Given the description of an element on the screen output the (x, y) to click on. 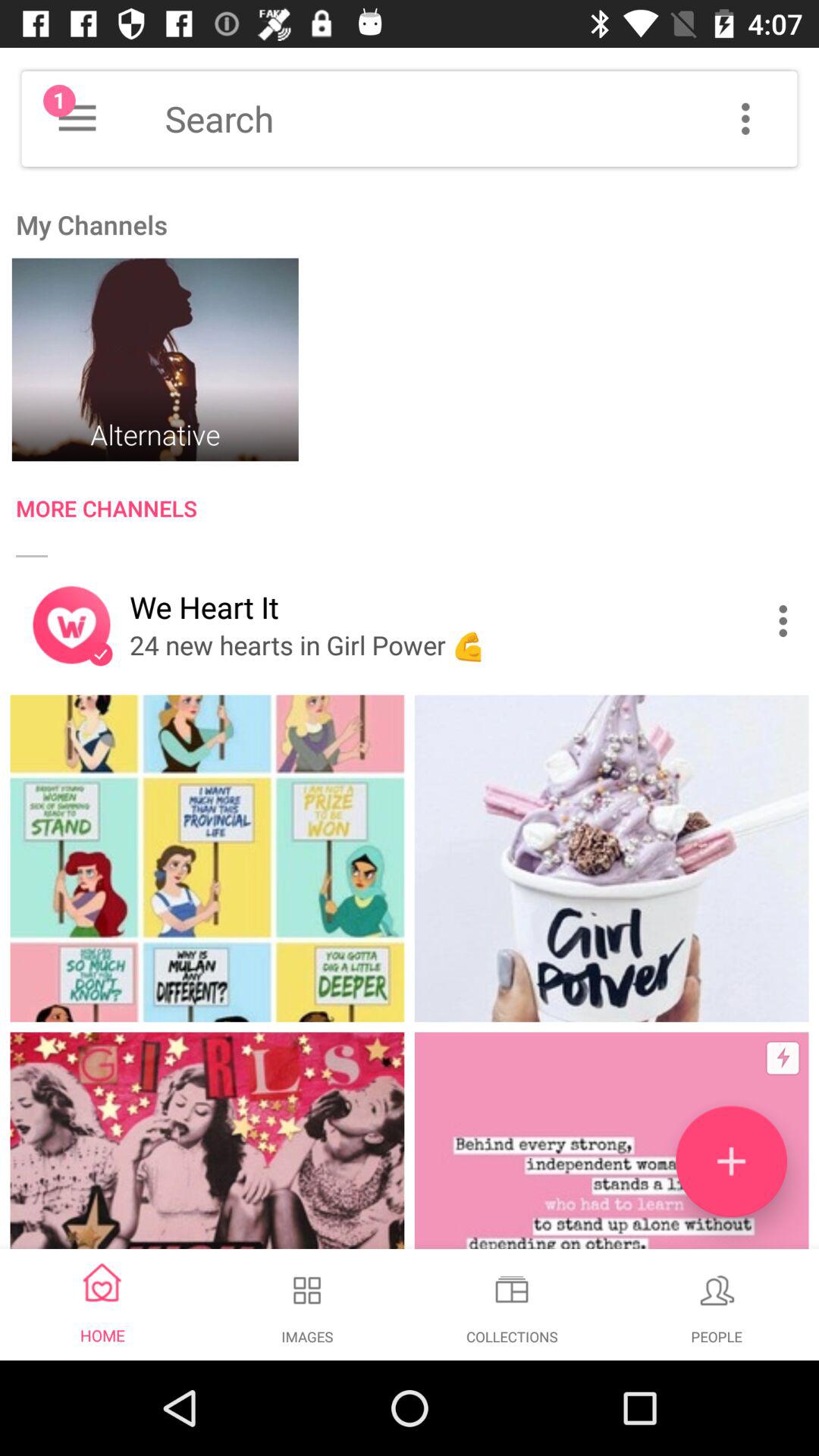
tap the icon above my channels icon (77, 118)
